Given the description of an element on the screen output the (x, y) to click on. 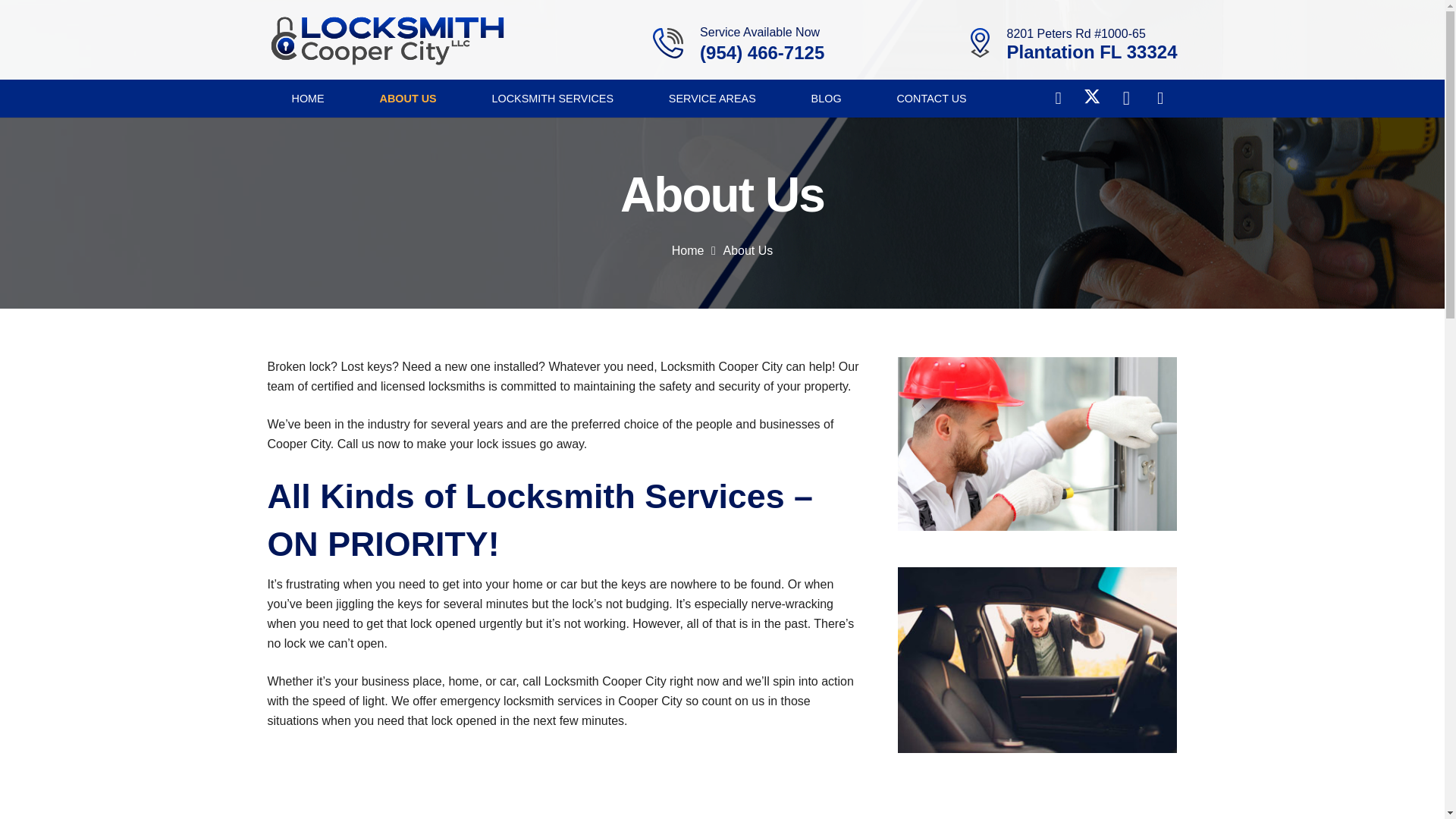
LinkedIn (1159, 98)
HOME (306, 98)
CONTACT US (931, 98)
Home (687, 250)
BLOG (826, 98)
Twitter (1092, 98)
LOCKSMITH SERVICES (552, 98)
About Us (747, 250)
SERVICE AREAS (712, 98)
ABOUT US (408, 98)
Instagram (1125, 98)
Facebook (1058, 98)
